Given the description of an element on the screen output the (x, y) to click on. 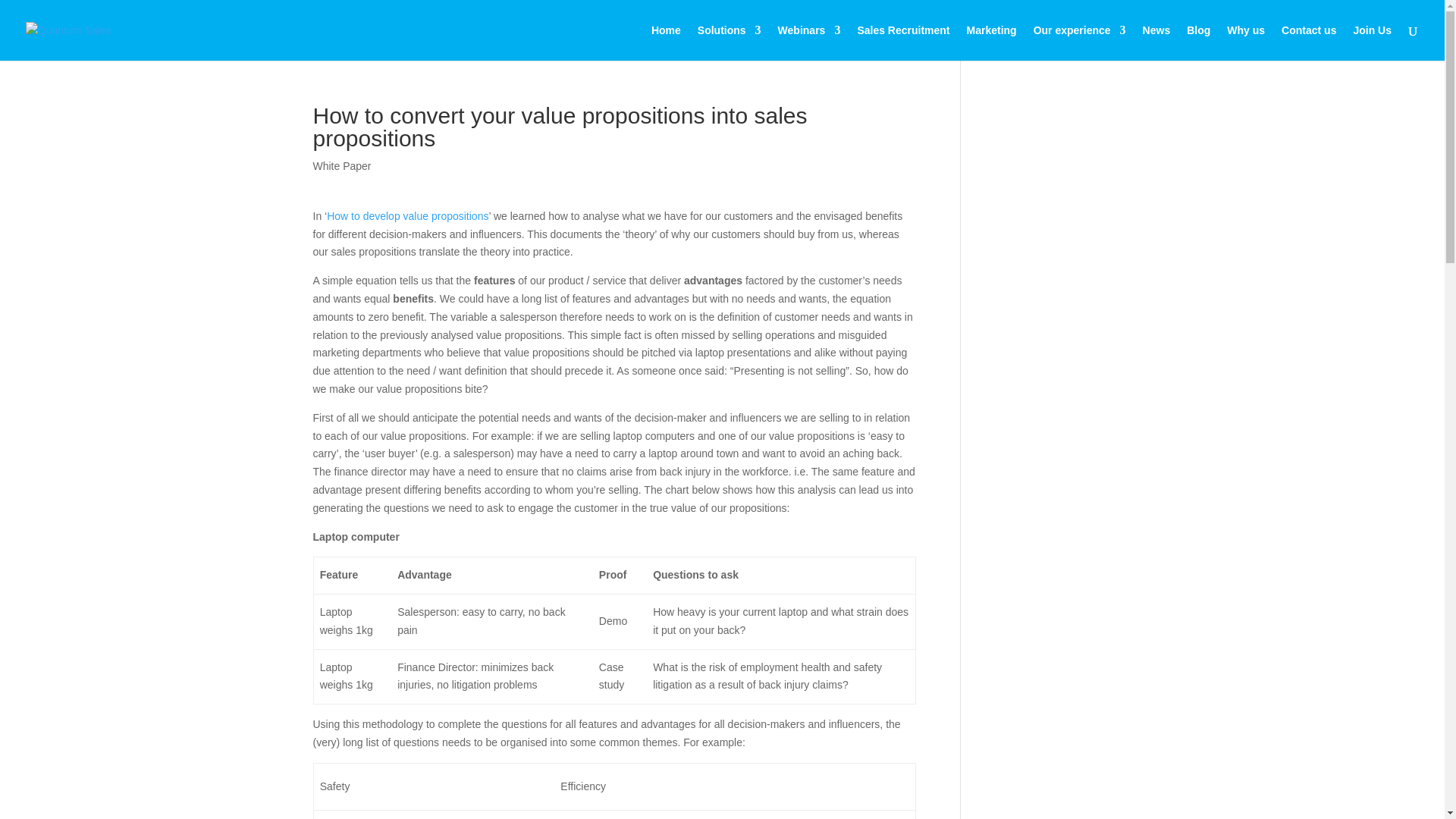
White Paper (342, 165)
News (1156, 42)
Webinars (809, 42)
Home (665, 42)
Our experience (1079, 42)
Marketing (991, 42)
Contact us (1308, 42)
Sales Recruitment (903, 42)
Blog (1197, 42)
Why us (1246, 42)
Join Us (1371, 42)
How to develop value propositions (406, 215)
Solutions (729, 42)
